Given the description of an element on the screen output the (x, y) to click on. 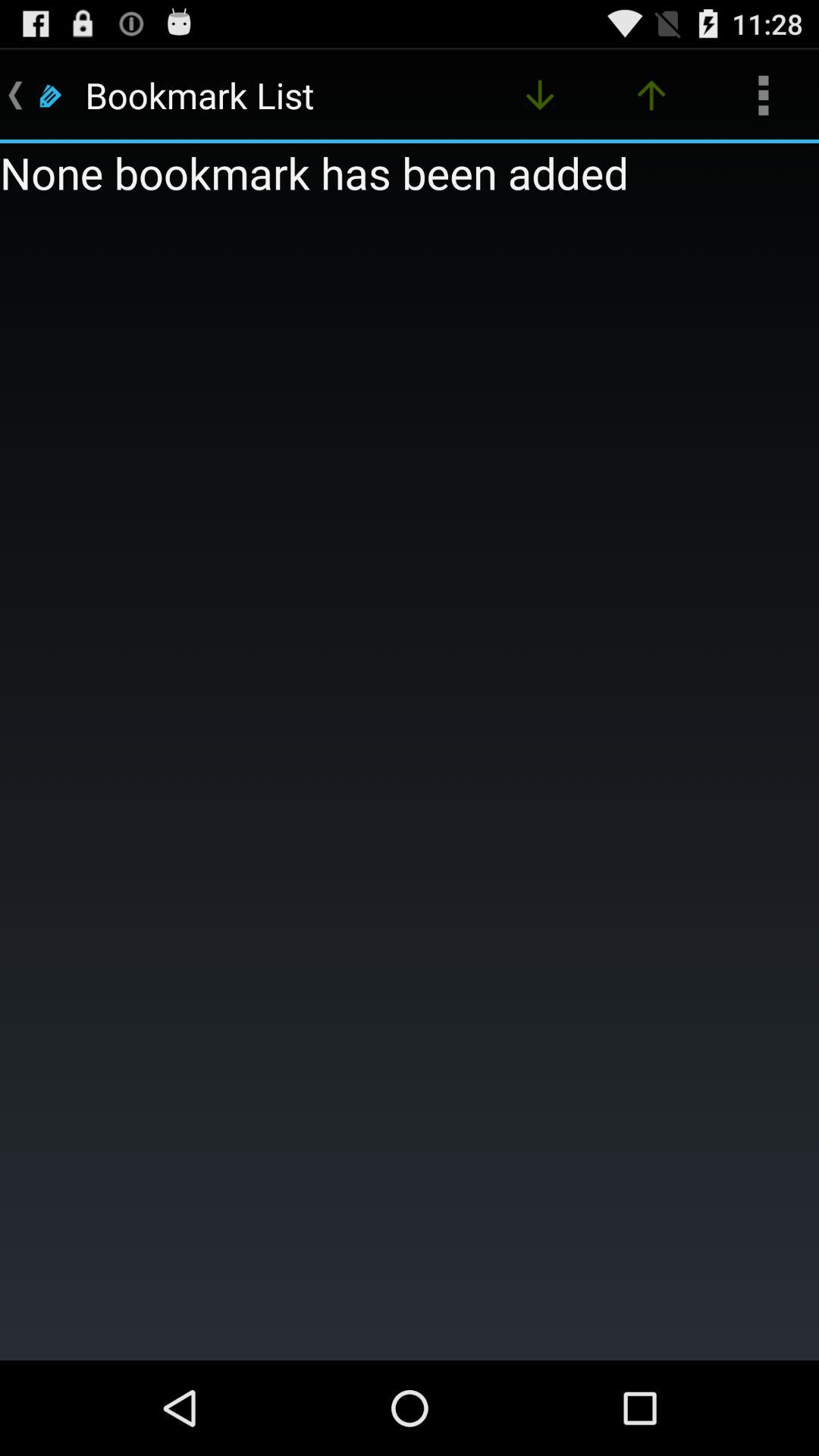
click icon above none bookmark has (763, 95)
